Given the description of an element on the screen output the (x, y) to click on. 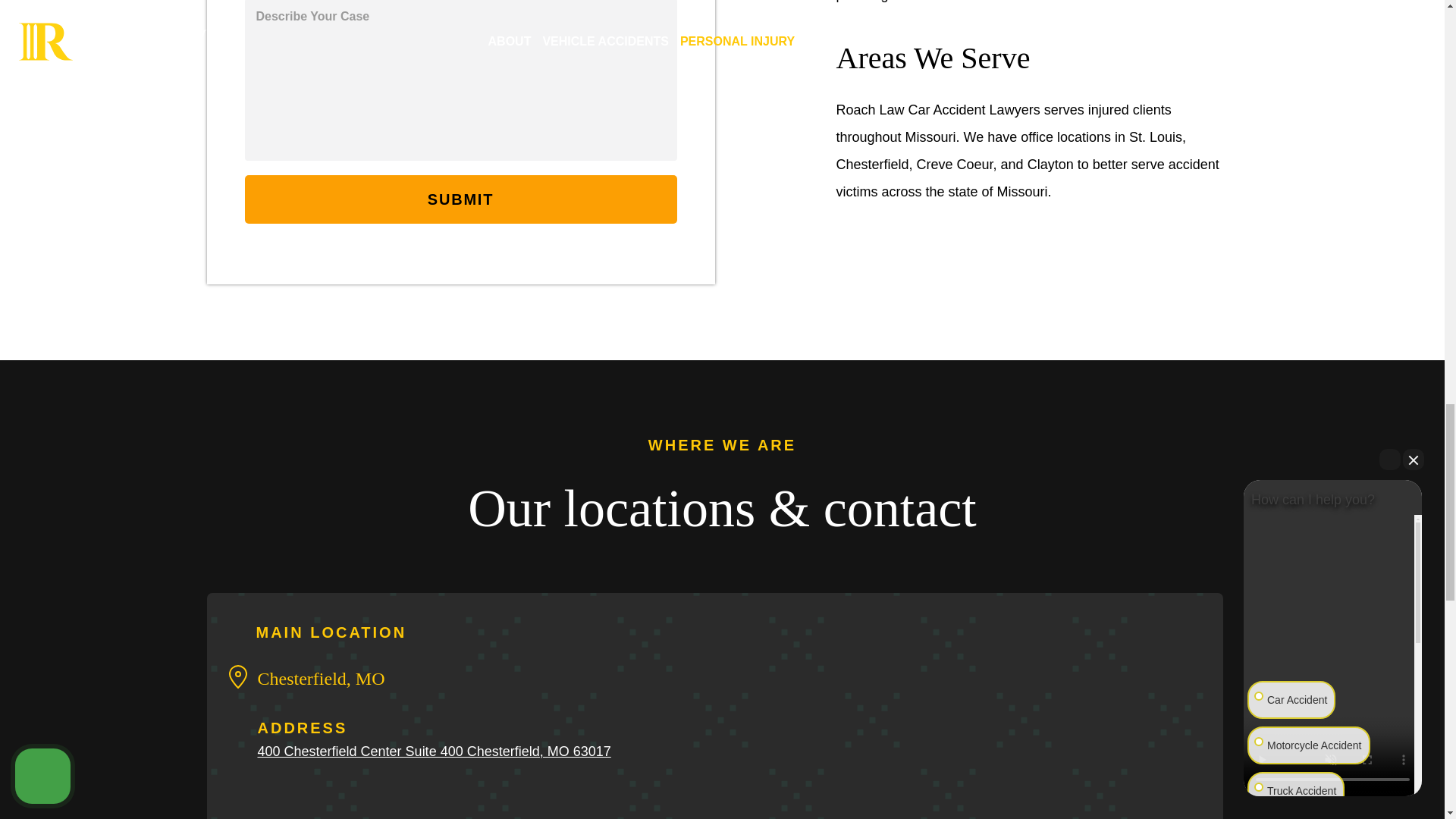
Submit (460, 199)
